Given the description of an element on the screen output the (x, y) to click on. 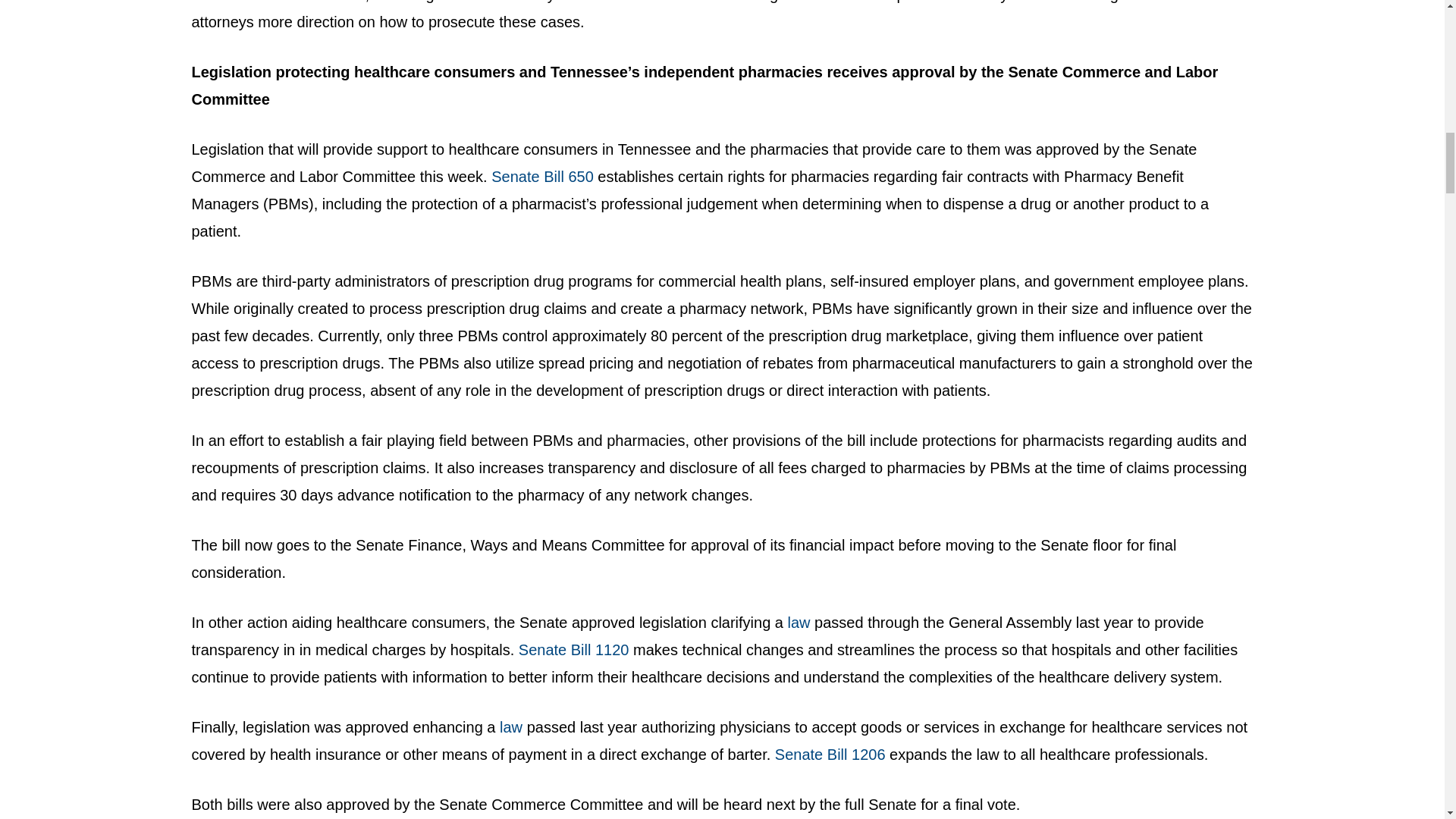
Senate Bill 1206 (829, 754)
law (798, 622)
Senate Bill 1120 (575, 649)
Senate Bill 650 (543, 176)
law (509, 727)
